Given the description of an element on the screen output the (x, y) to click on. 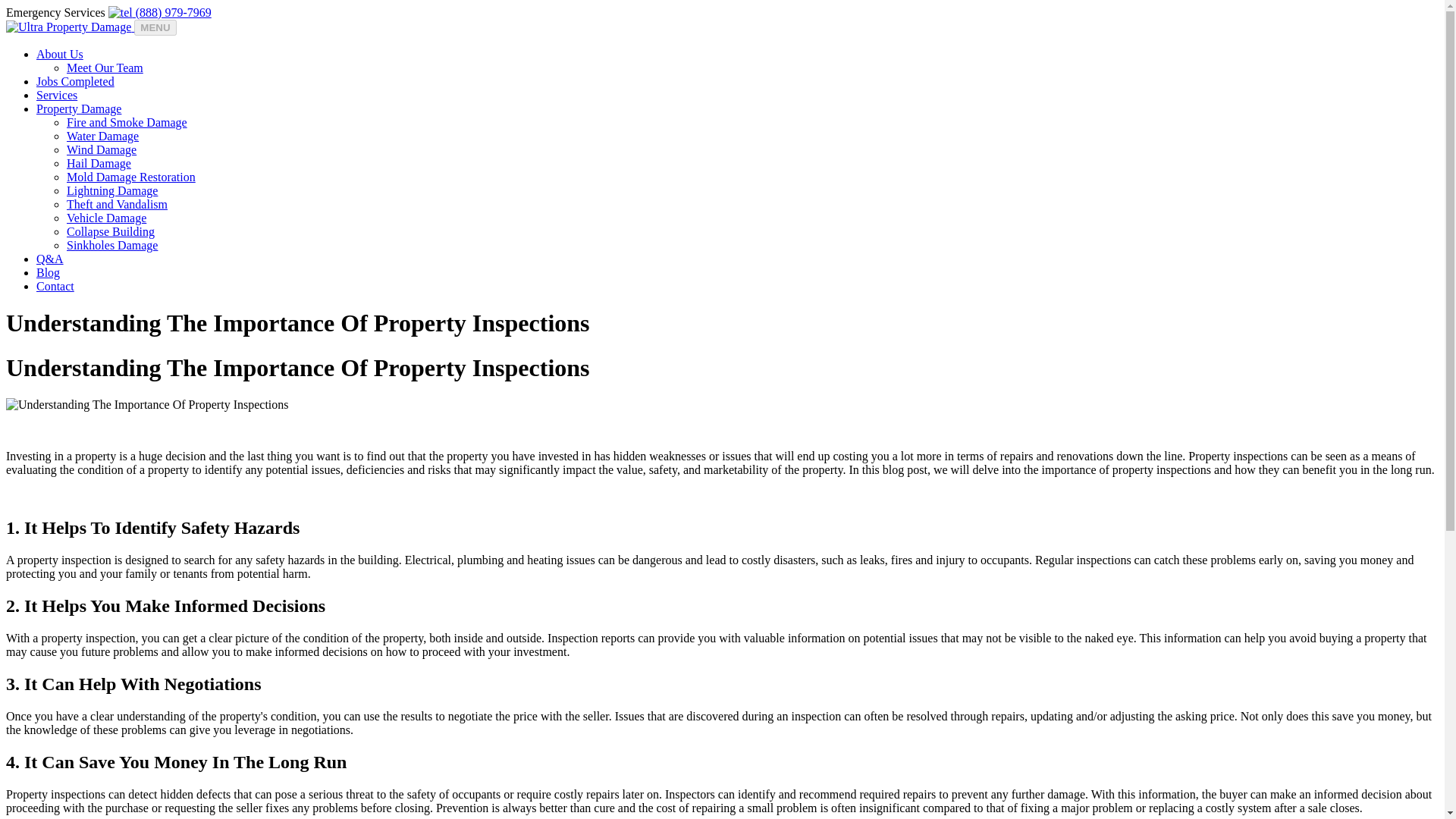
Lightning Damage (111, 190)
Hail Damage (98, 163)
Collapse Building (110, 231)
Water Damage (102, 135)
Wind Damage (101, 149)
Jobs Completed (75, 81)
Blog (47, 272)
Lightning Damage (111, 190)
Property Damage (78, 108)
Wind Damage (101, 149)
Hail Damage (98, 163)
Theft and Vandalism (116, 204)
Fire and Smoke Damage (126, 122)
Blog (47, 272)
Services (56, 94)
